Given the description of an element on the screen output the (x, y) to click on. 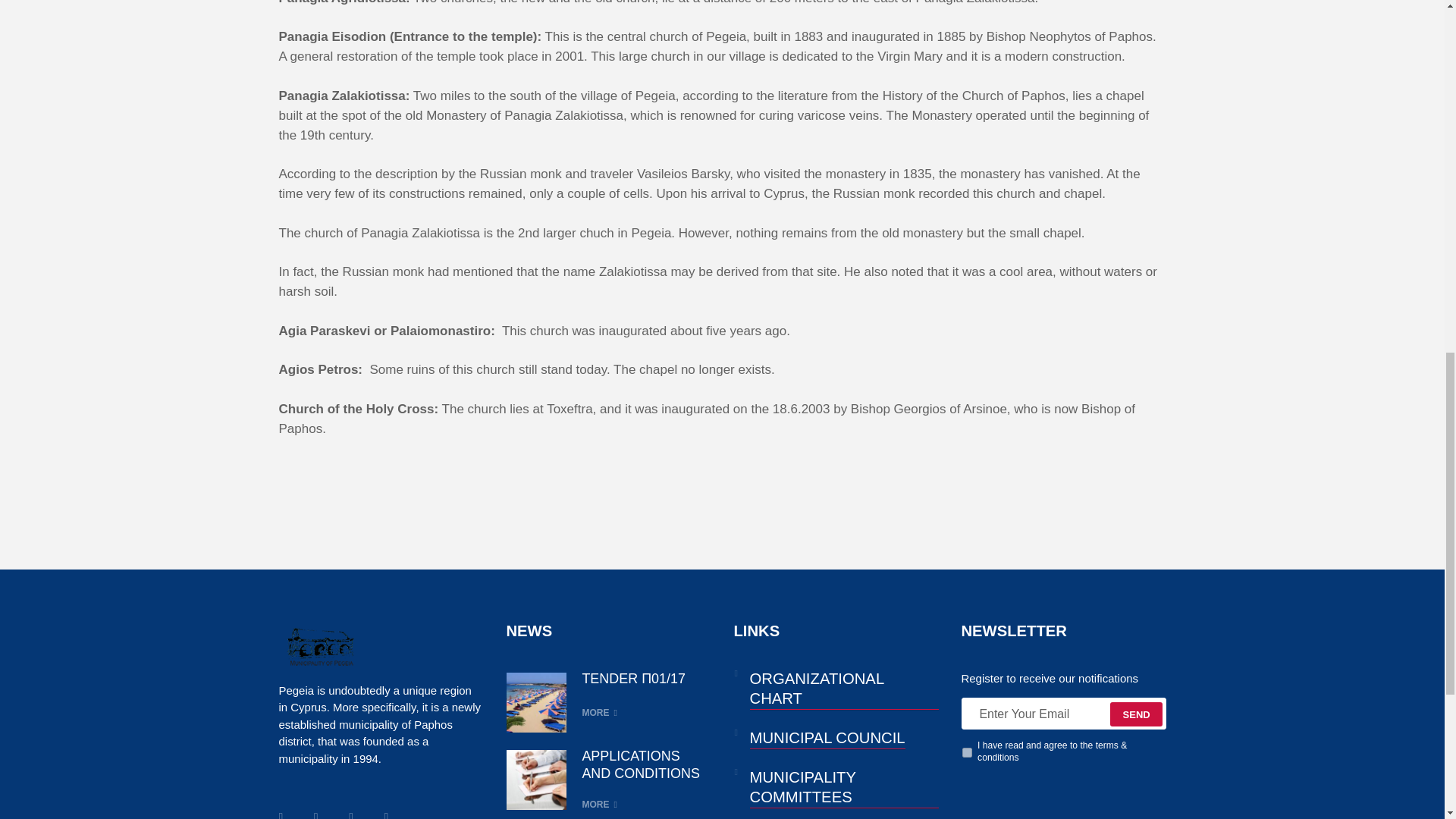
1 (965, 752)
Submit (1135, 713)
